Given the description of an element on the screen output the (x, y) to click on. 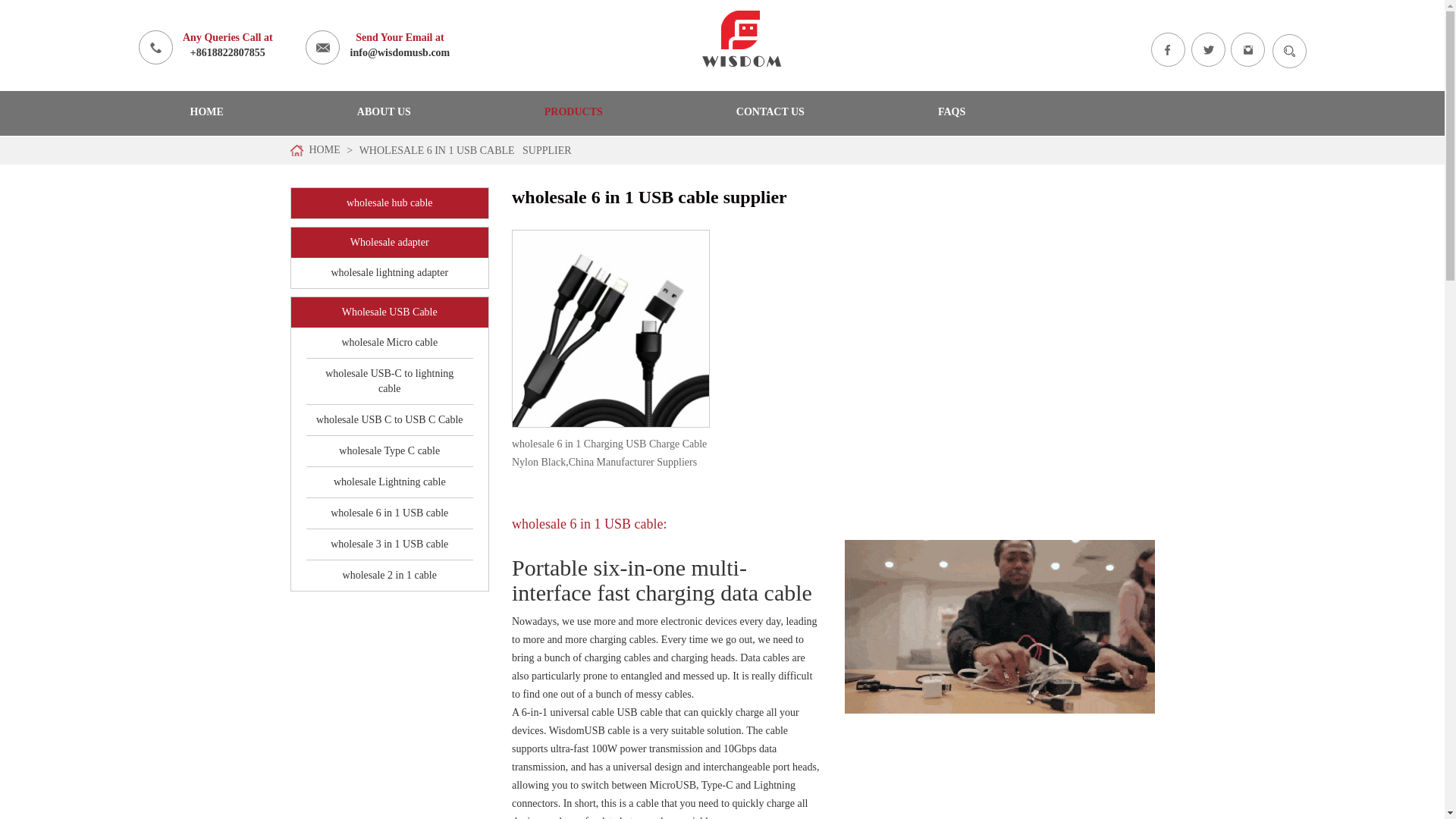
PRODUCTS (573, 112)
wholesales wholesale lightning adapter (389, 272)
wholesales wholesale Micro cable (389, 342)
CONTACT US (769, 112)
HOME (205, 112)
wholesale usb cable (741, 37)
FAQS (951, 112)
ABOUT US (383, 112)
